Given the description of an element on the screen output the (x, y) to click on. 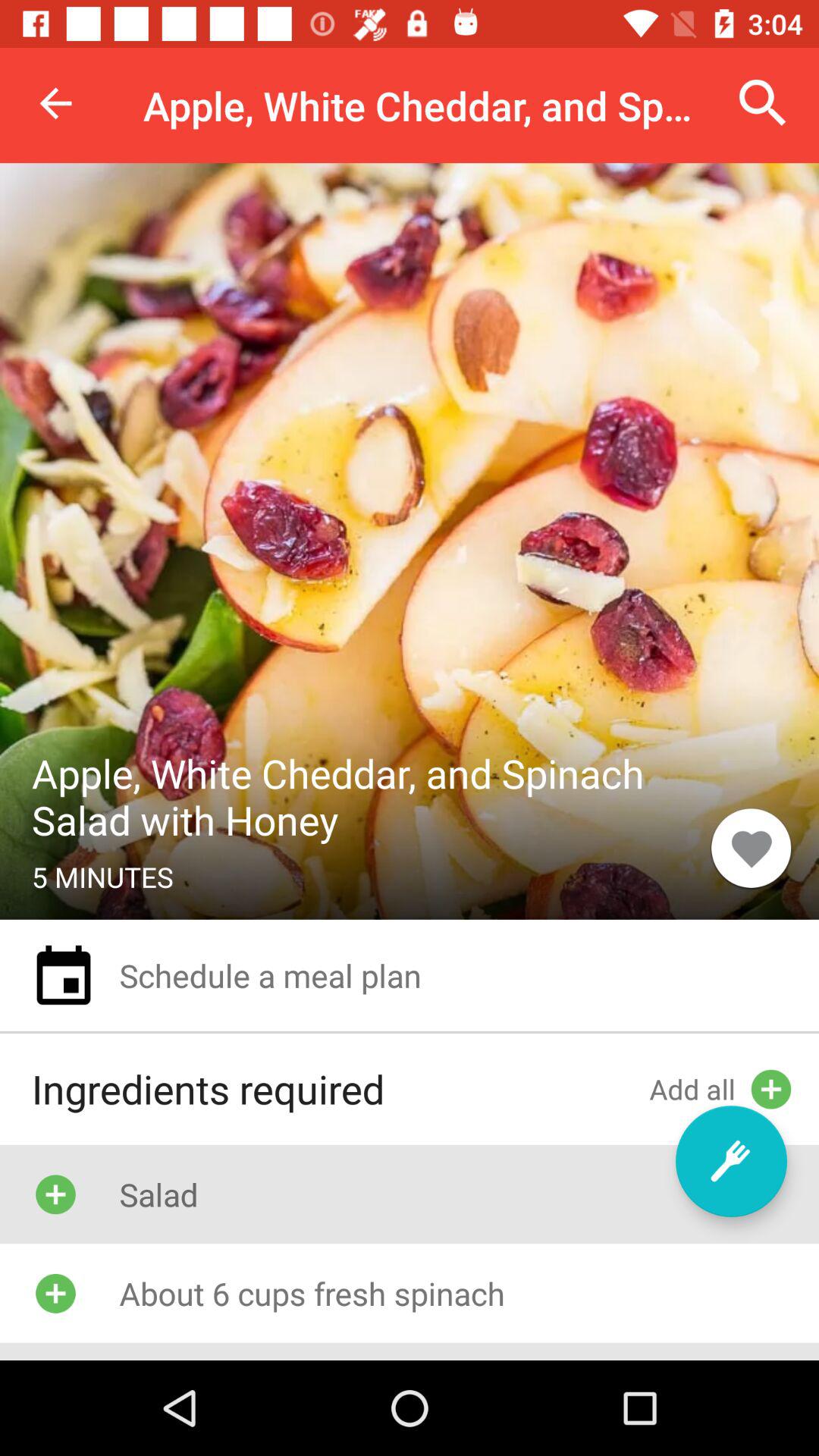
turn on the icon on the right (751, 847)
